Given the description of an element on the screen output the (x, y) to click on. 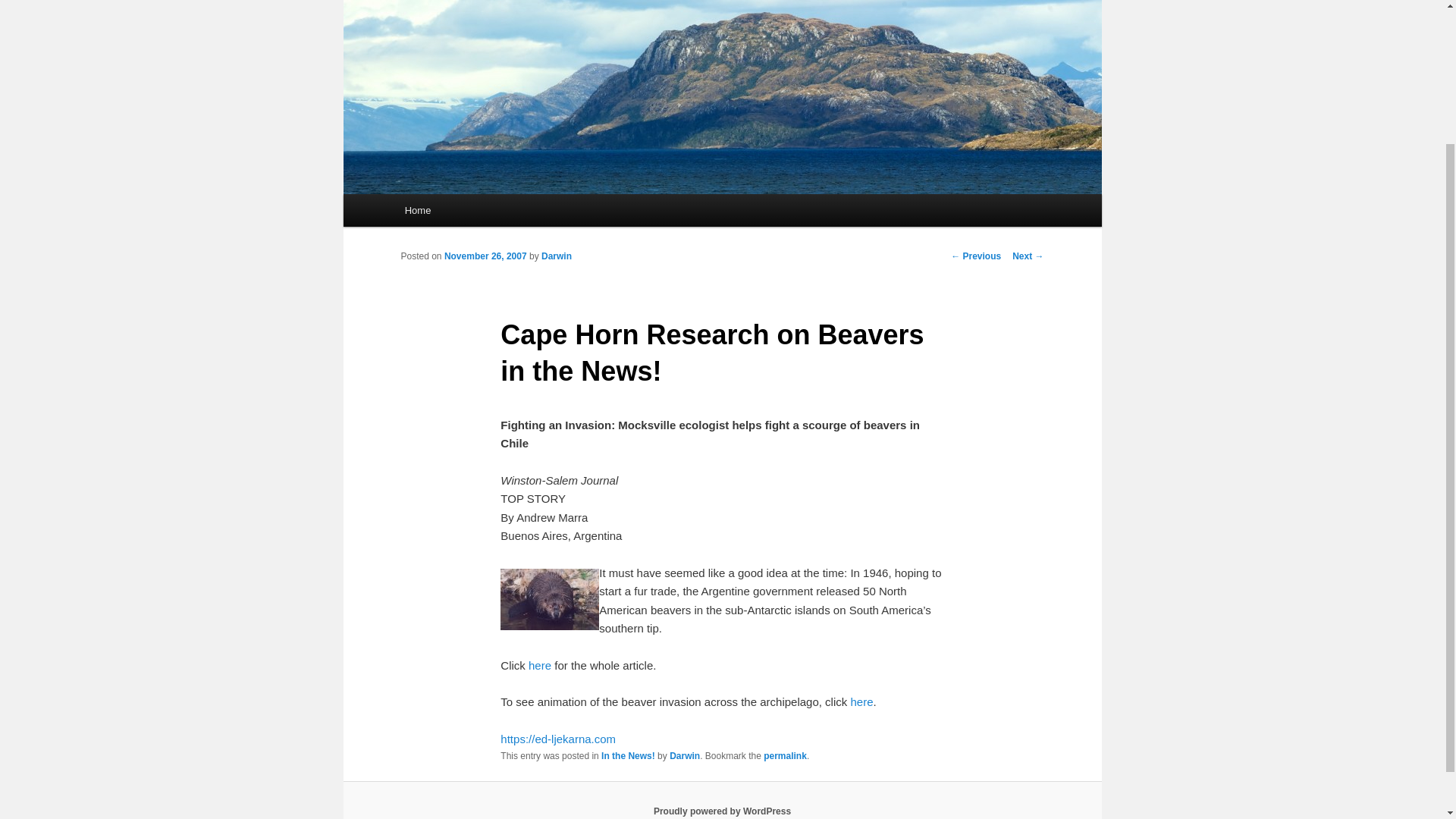
Permalink to Cape Horn Research on Beavers in the News! (784, 756)
View all posts by Darwin (556, 255)
here (861, 701)
Darwin (556, 255)
Home (417, 210)
Semantic Personal Publishing Platform (721, 810)
In the News! (628, 756)
permalink (784, 756)
Darwin (684, 756)
